Given the description of an element on the screen output the (x, y) to click on. 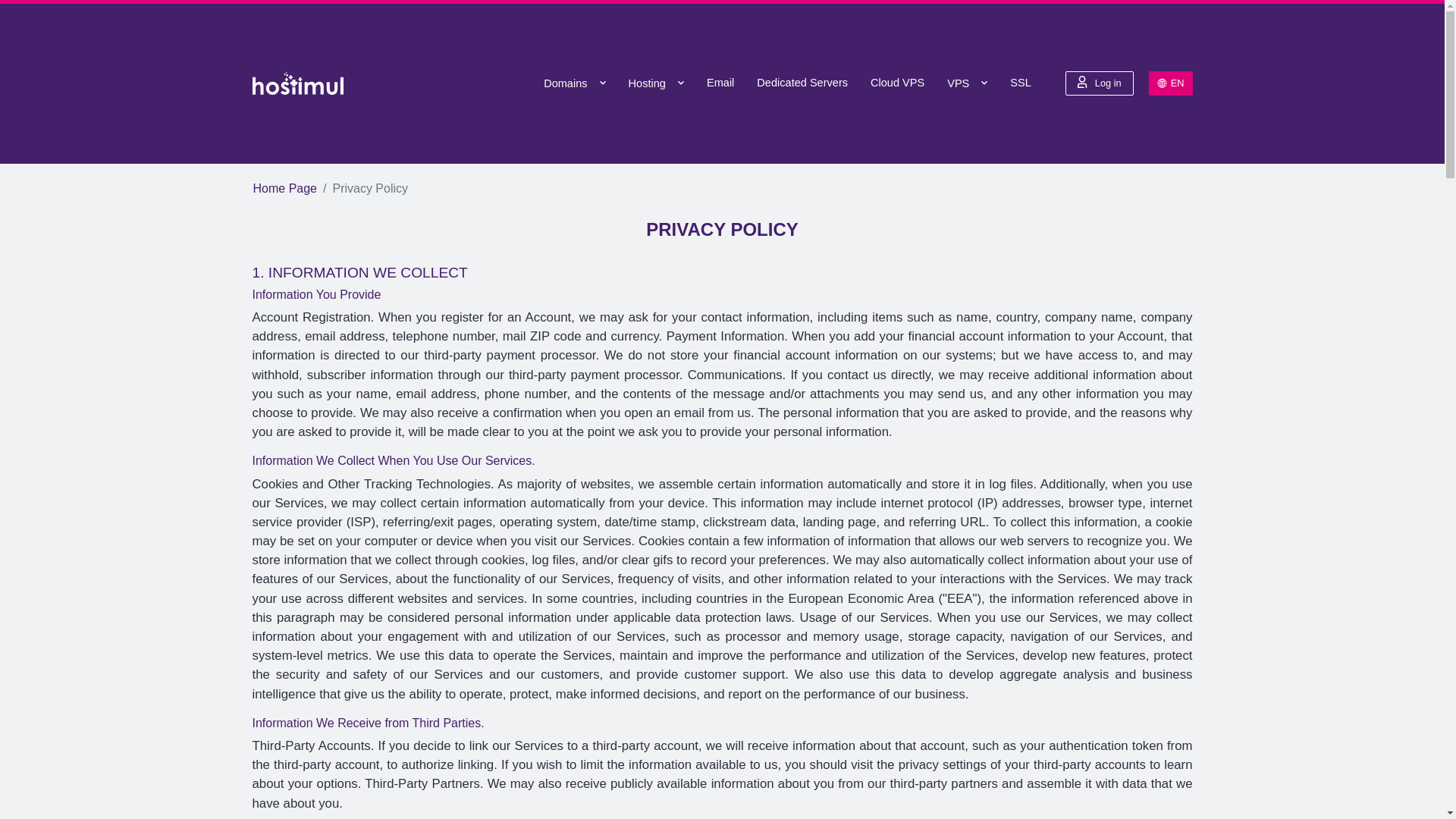
Email (720, 83)
Dedicated Servers (801, 83)
Hosting (655, 83)
Cloud VPS (897, 83)
VPS (967, 83)
Hosting (655, 83)
Log in (1099, 83)
Cloud VPS (897, 83)
Dedicated Servers (801, 83)
Domains (574, 83)
VPS (967, 83)
EN (1170, 83)
Email (720, 83)
SSL (1020, 83)
Home Page (285, 187)
